Given the description of an element on the screen output the (x, y) to click on. 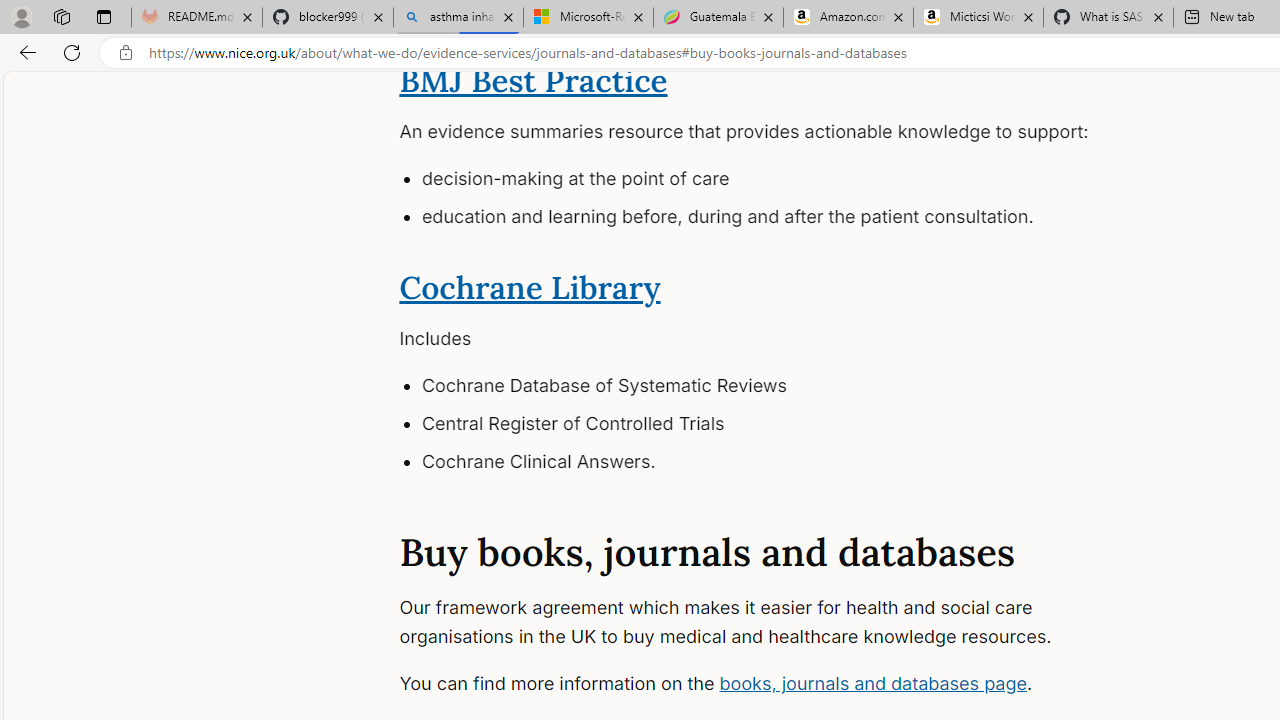
books, journals and databases page (872, 682)
asthma inhaler - Search (458, 17)
Cochrane Library (529, 286)
decision-making at the point of care (787, 179)
Cochrane Clinical Answers. (787, 461)
